Given the description of an element on the screen output the (x, y) to click on. 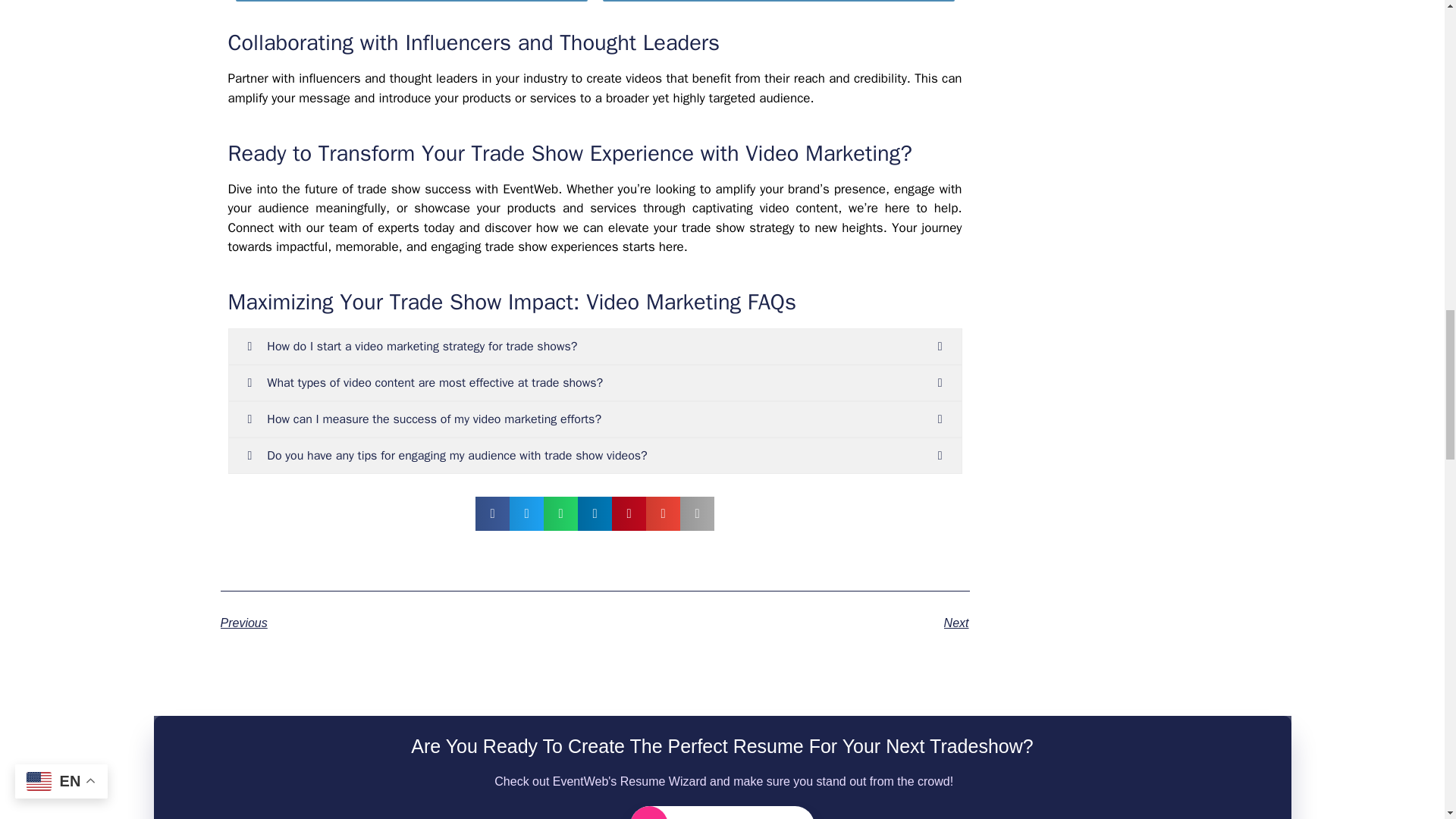
Previous (406, 623)
